Given the description of an element on the screen output the (x, y) to click on. 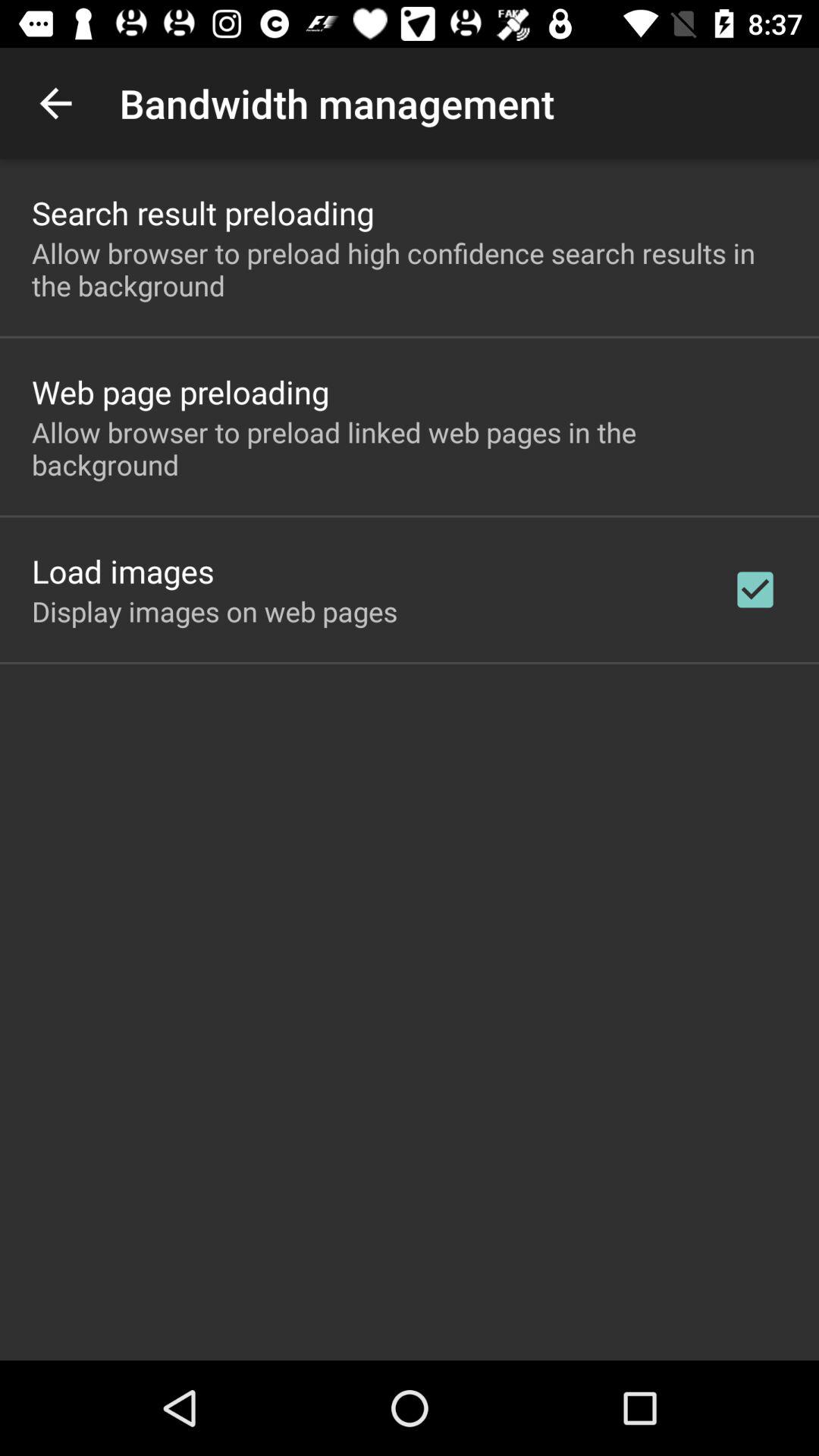
turn on the item next to bandwidth management (55, 103)
